Given the description of an element on the screen output the (x, y) to click on. 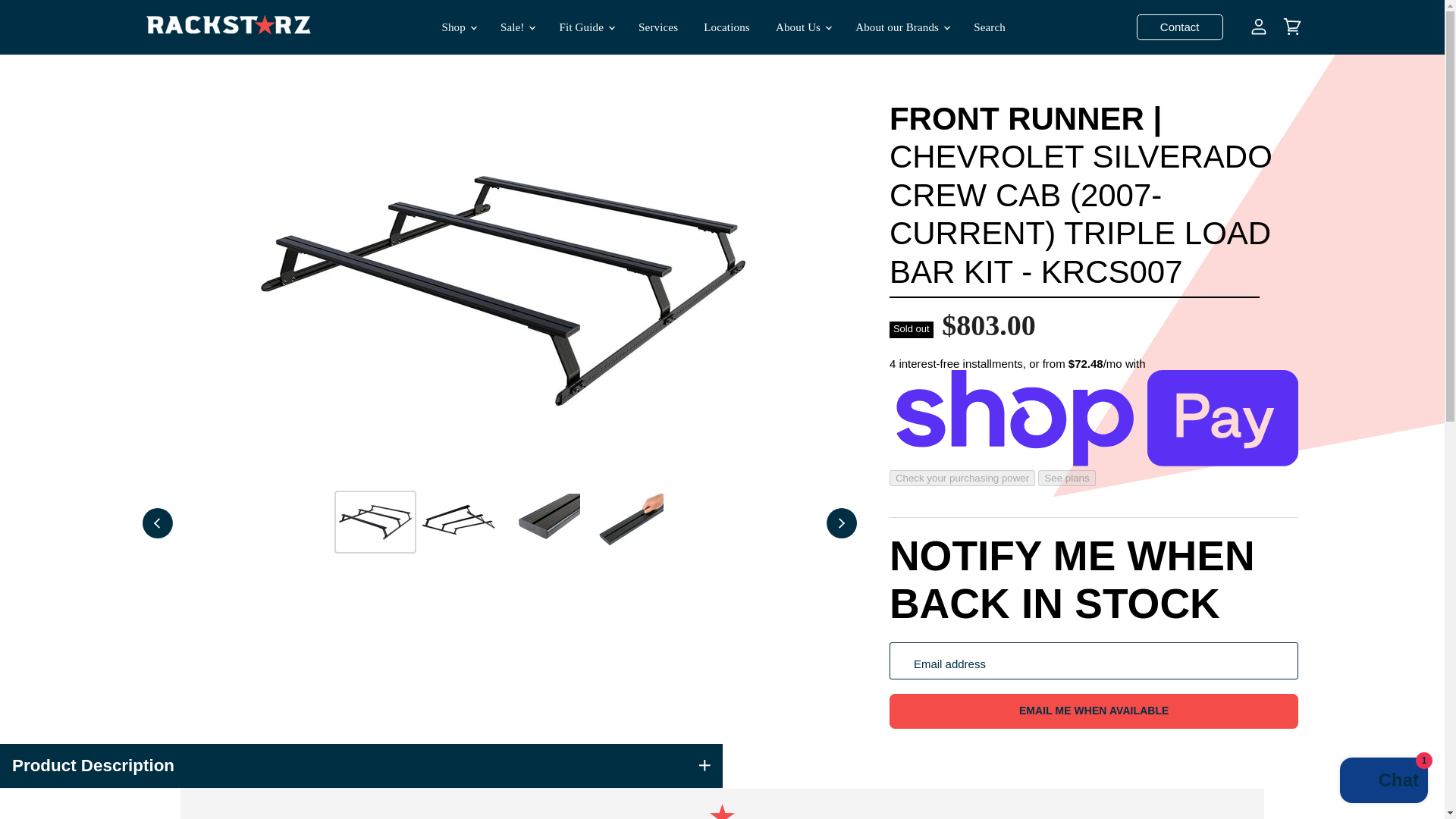
Front Runner (1016, 118)
Shop (456, 27)
Shopify online store chat (1383, 781)
